Given the description of an element on the screen output the (x, y) to click on. 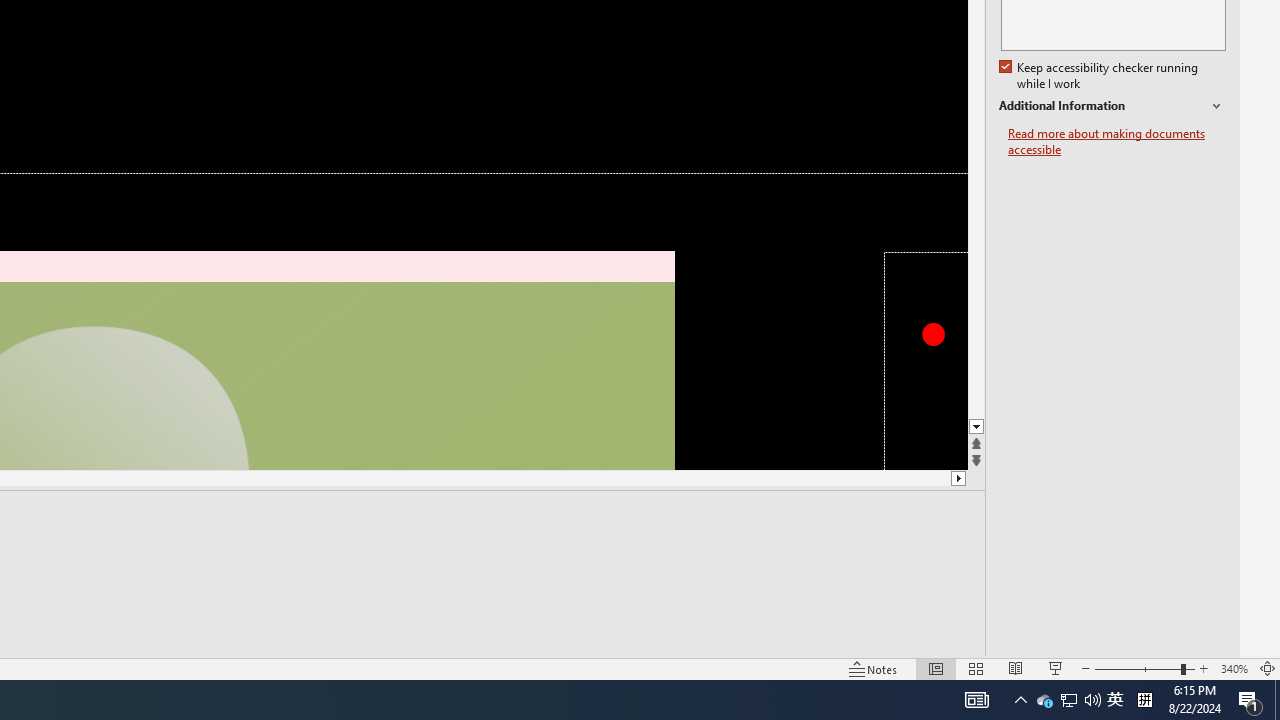
Keep accessibility checker running while I work (1099, 76)
Read more about making documents accessible (1117, 142)
Additional Information (1112, 106)
Zoom 340% (1234, 668)
